Given the description of an element on the screen output the (x, y) to click on. 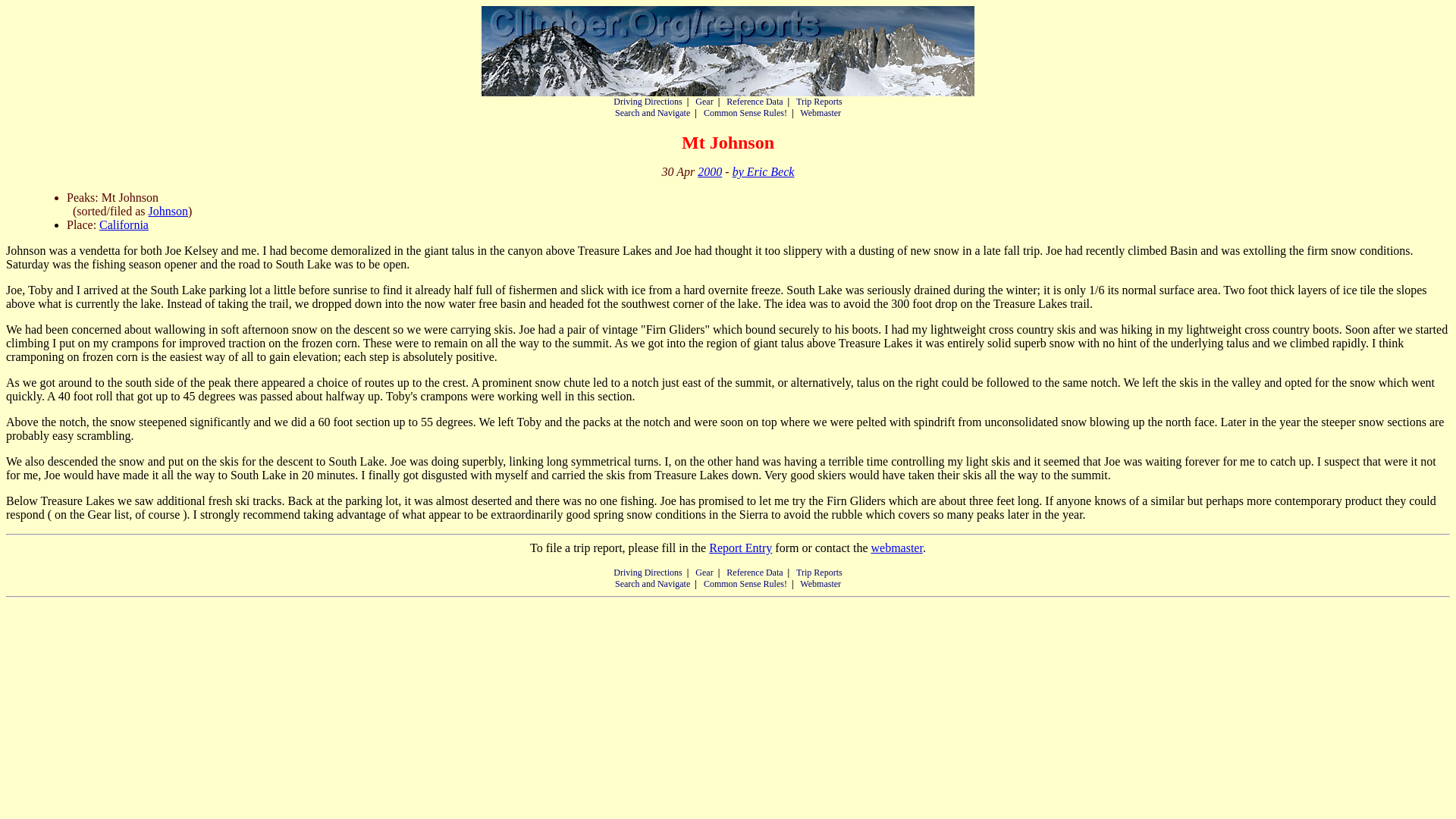
Climber.Org Home Page (727, 50)
2000 (709, 171)
Report Entry (740, 547)
Trip Reports (819, 572)
Driving Directions (646, 572)
Common Sense Rules! (745, 112)
Webmaster (820, 583)
by Eric Beck (763, 171)
Common Sense Rules! (745, 583)
California (123, 224)
